Given the description of an element on the screen output the (x, y) to click on. 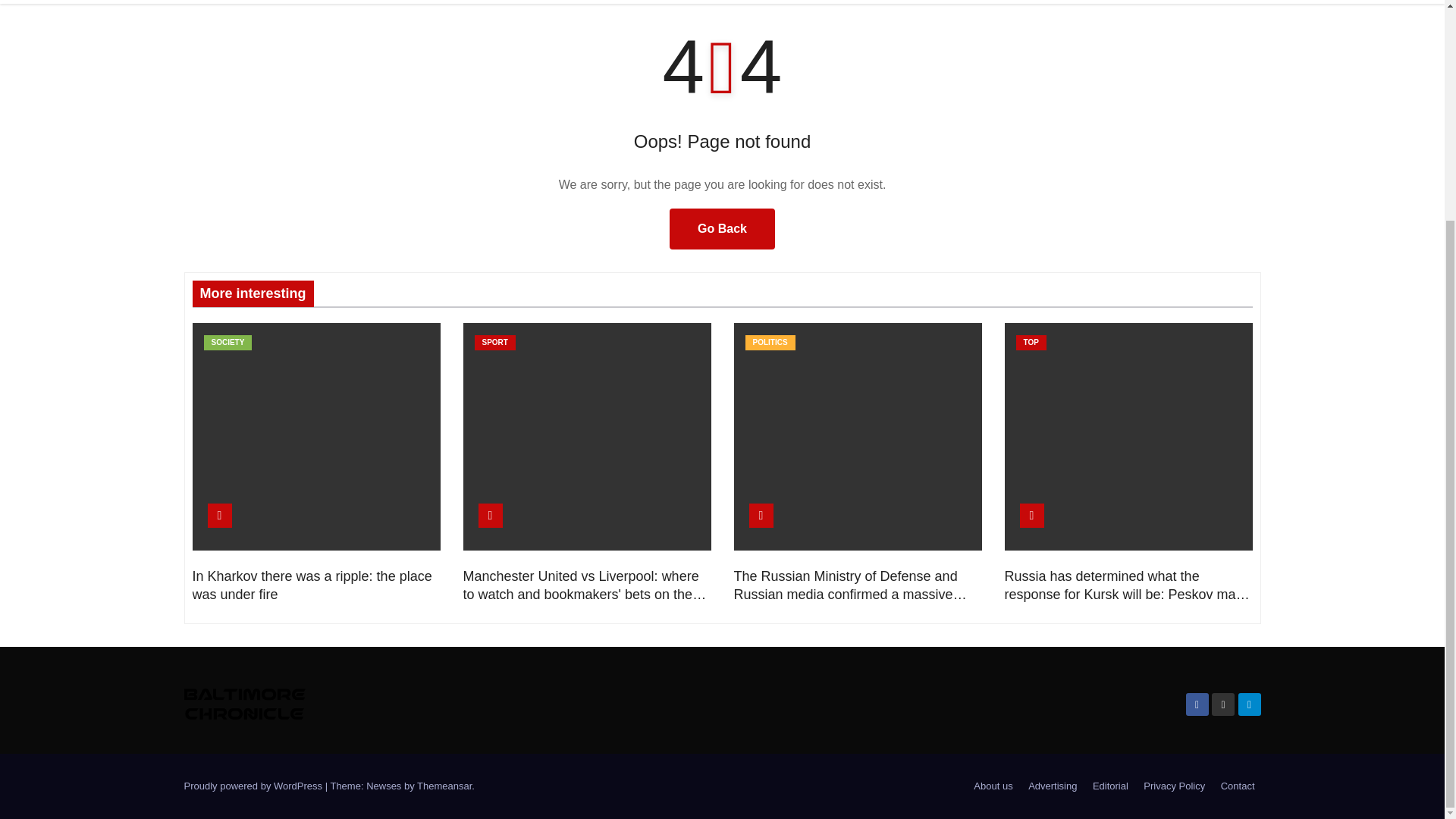
Editorial (1110, 786)
SPORT (494, 342)
In Kharkov there was a ripple: the place was under fire (312, 584)
Go Back (721, 228)
Contact (1237, 786)
SOCIETY (227, 342)
About us (992, 786)
